Given the description of an element on the screen output the (x, y) to click on. 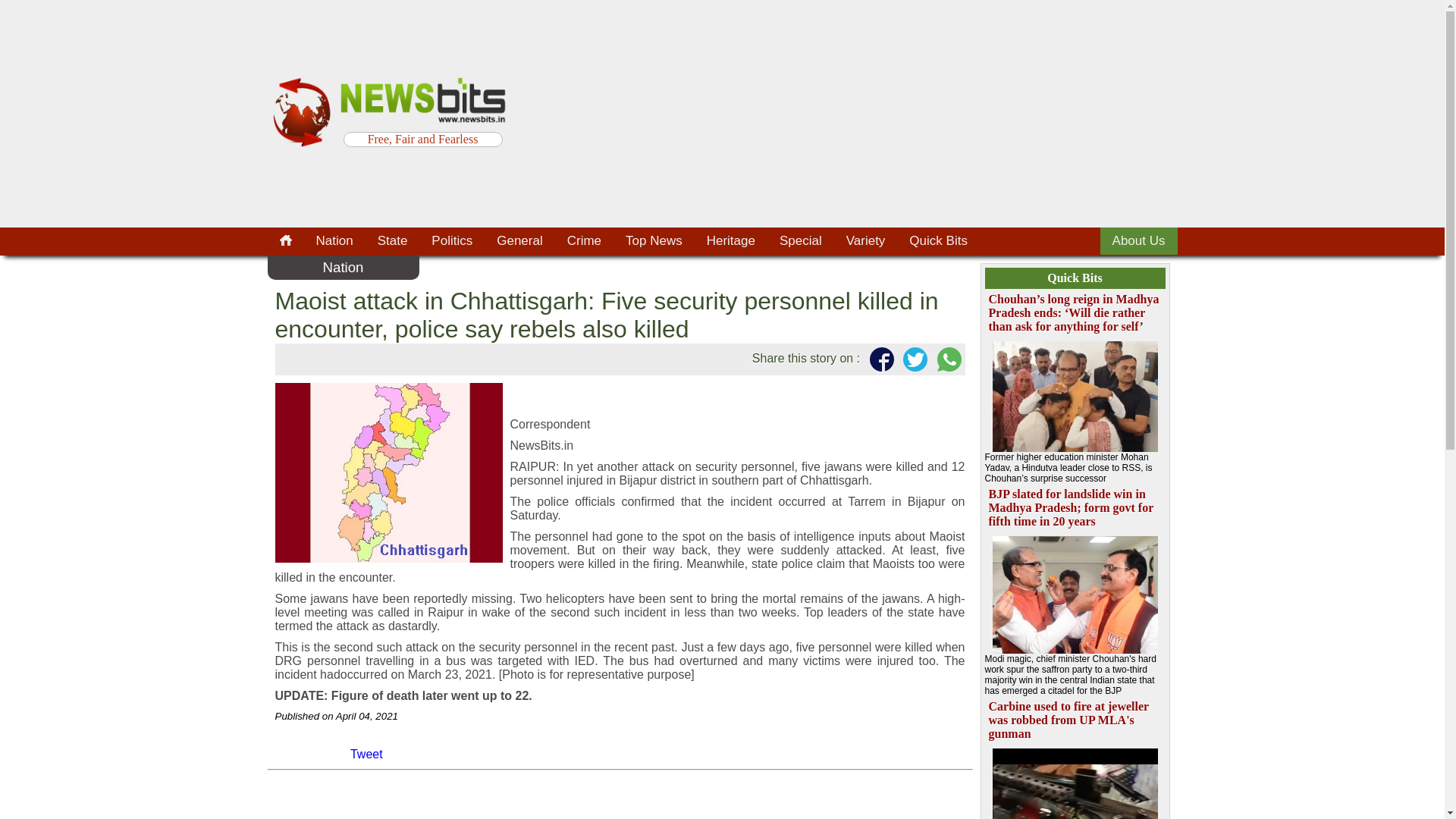
Tweet (366, 754)
Politics (451, 240)
About Us (1138, 240)
Share on Whatapp (945, 359)
Special (800, 240)
Quick Bits (937, 240)
Nation (333, 240)
General (519, 240)
State (392, 240)
Heritage (730, 240)
Share on Twitter (911, 359)
Top News (653, 240)
Share on Facebook (878, 359)
Variety (866, 240)
